Given the description of an element on the screen output the (x, y) to click on. 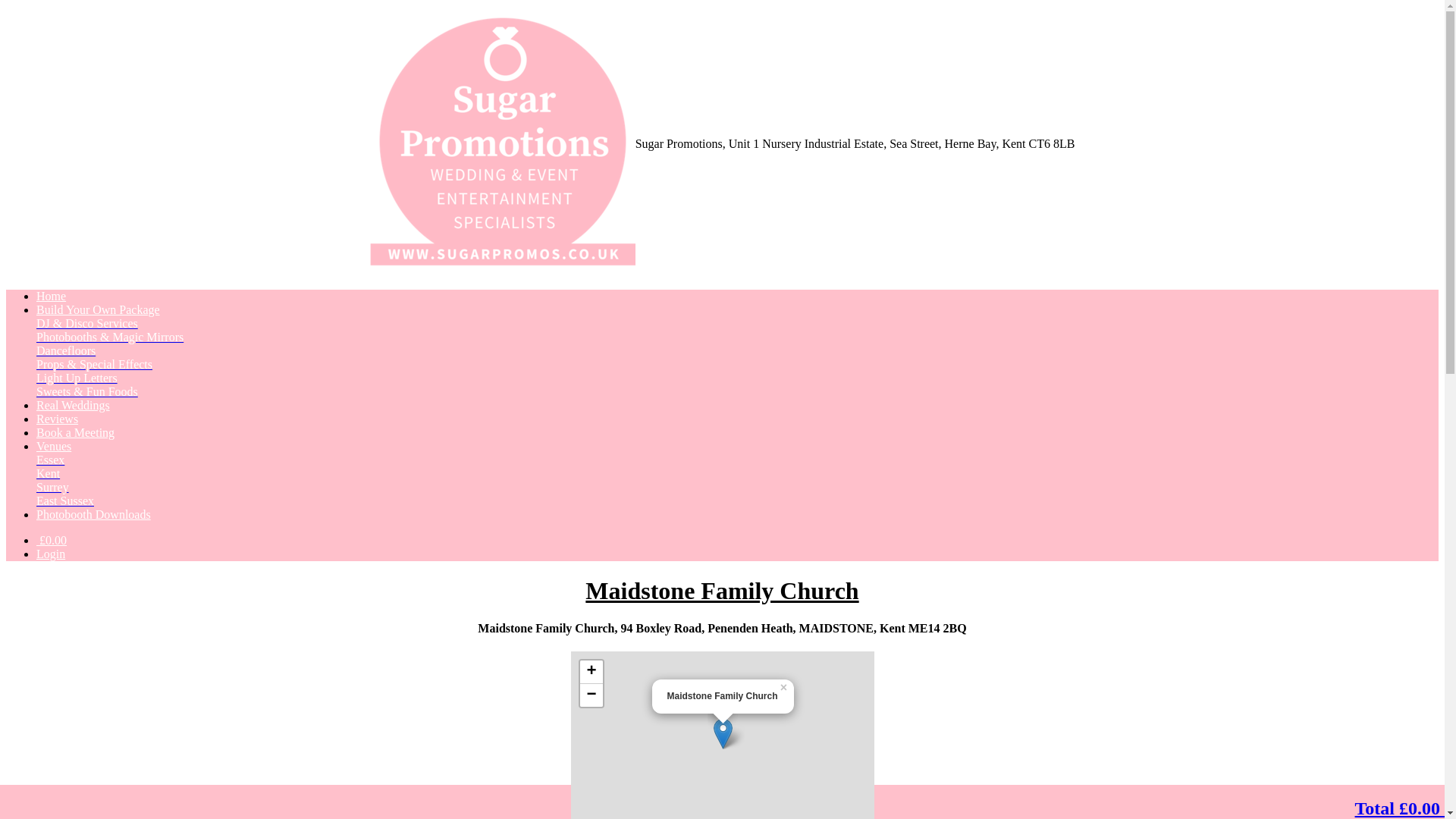
Build Your Own Package (98, 309)
Book a Meeting (75, 431)
Dancefloors (66, 350)
Photobooth Downloads (93, 513)
Login (50, 553)
Reviews (57, 418)
Essex (50, 459)
Kent (47, 472)
Light Up Letters (76, 377)
Zoom out (590, 694)
Venues (53, 445)
East Sussex (65, 500)
Home (50, 295)
Real Weddings (73, 404)
Zoom in (590, 671)
